Given the description of an element on the screen output the (x, y) to click on. 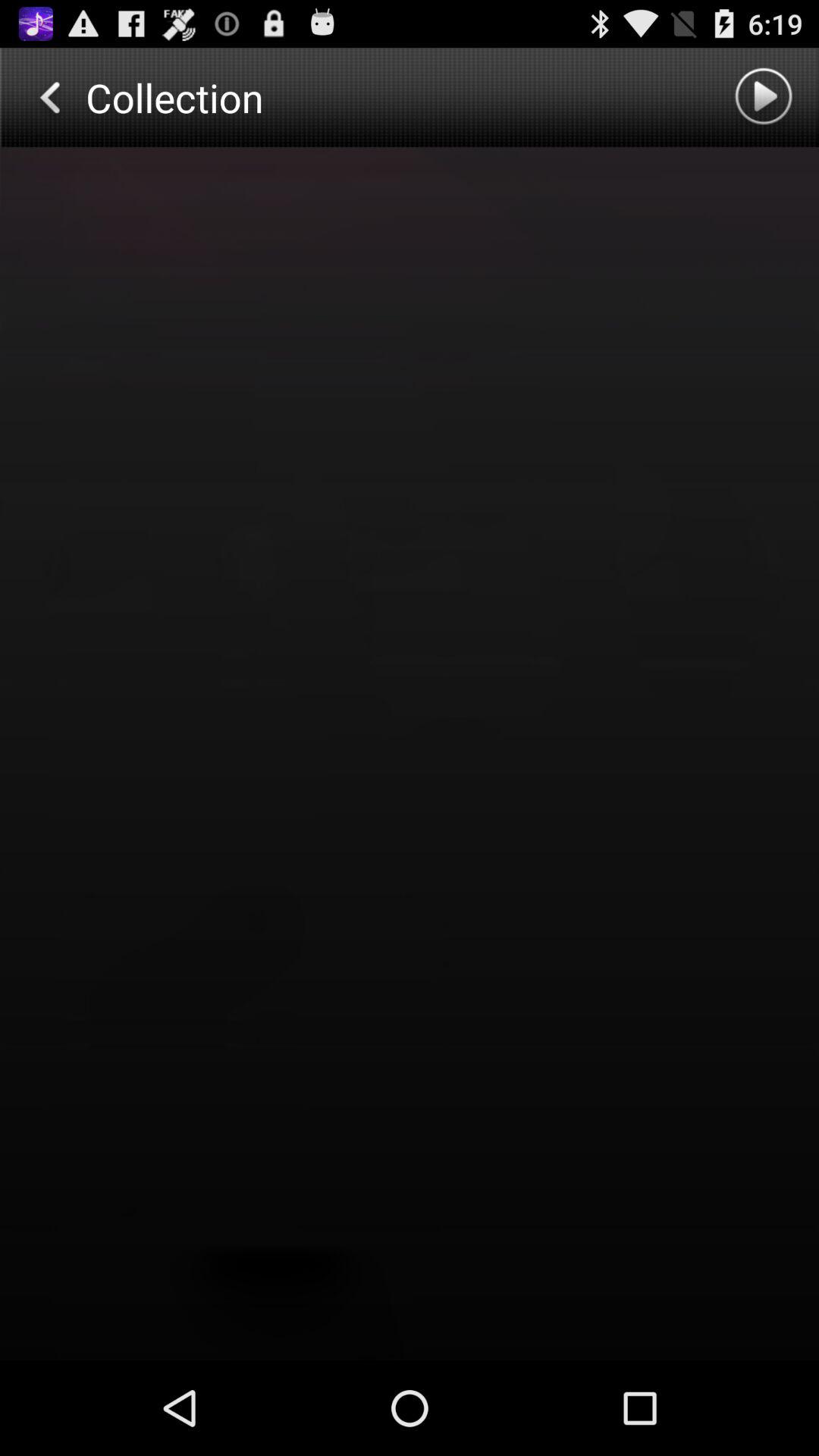
play (765, 97)
